Given the description of an element on the screen output the (x, y) to click on. 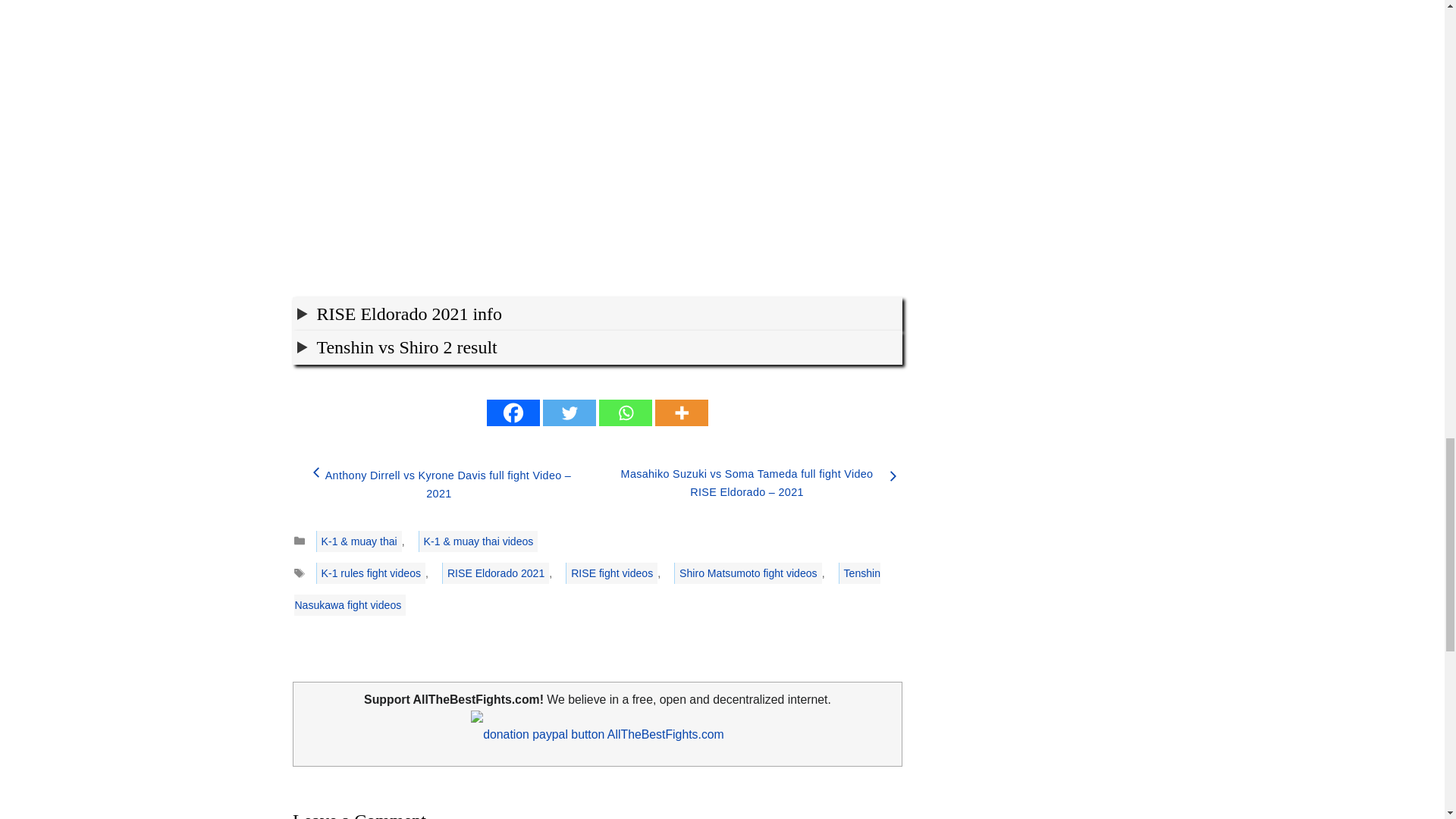
RISE Eldorado 2021 (495, 572)
Shiro Matsumoto fight videos (748, 572)
K-1 rules fight videos (370, 572)
Tenshin Nasukawa fight videos (587, 588)
RISE fight videos (612, 572)
